Given the description of an element on the screen output the (x, y) to click on. 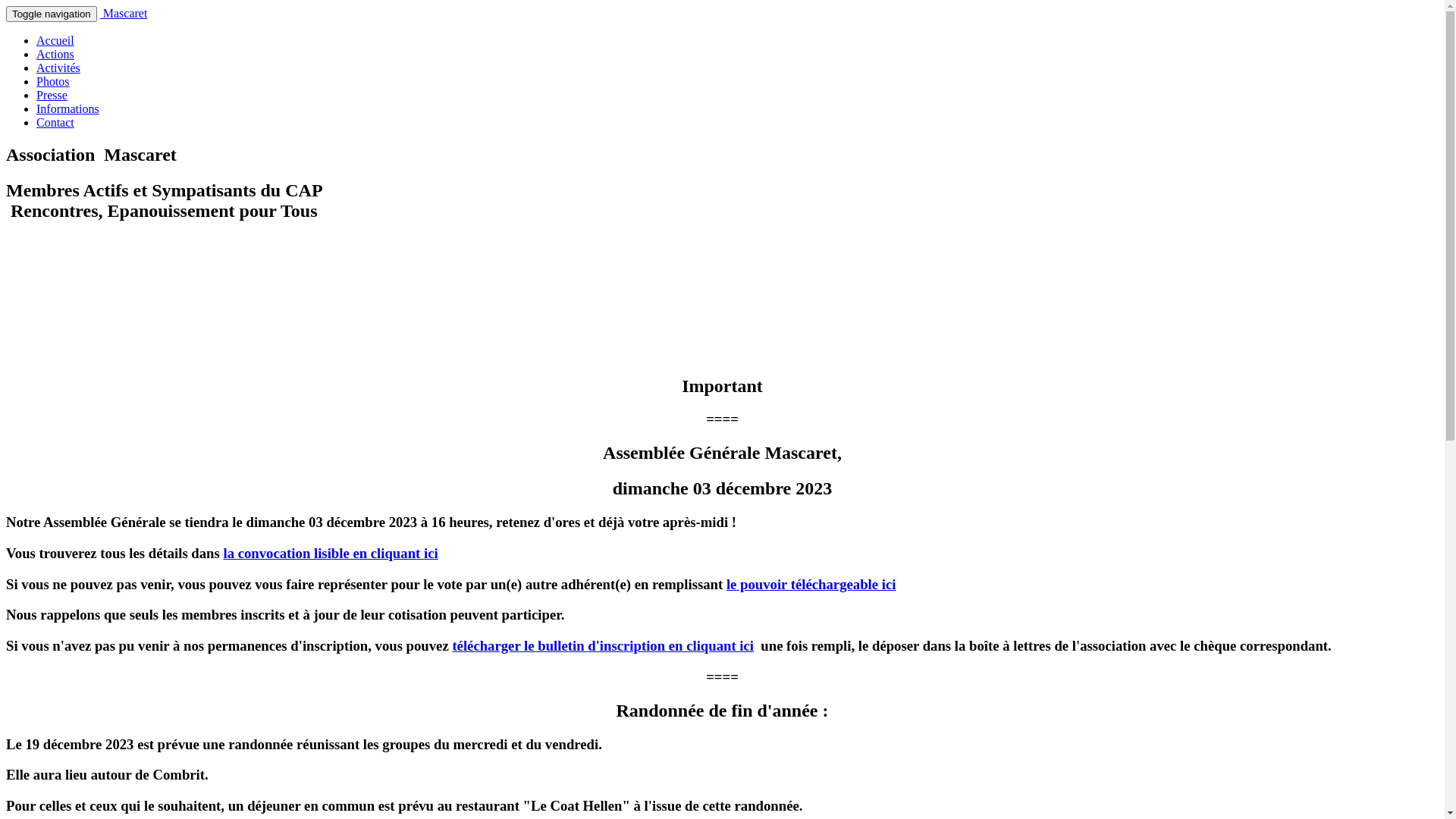
Toggle navigation Element type: text (51, 13)
Presse Element type: text (51, 94)
Informations Element type: text (67, 108)
Photos Element type: text (52, 81)
 Mascaret Element type: text (123, 12)
Actions Element type: text (55, 53)
Accueil Element type: text (55, 40)
Contact Element type: text (55, 122)
la convocation lisible en cliquant ici Element type: text (329, 553)
